Given the description of an element on the screen output the (x, y) to click on. 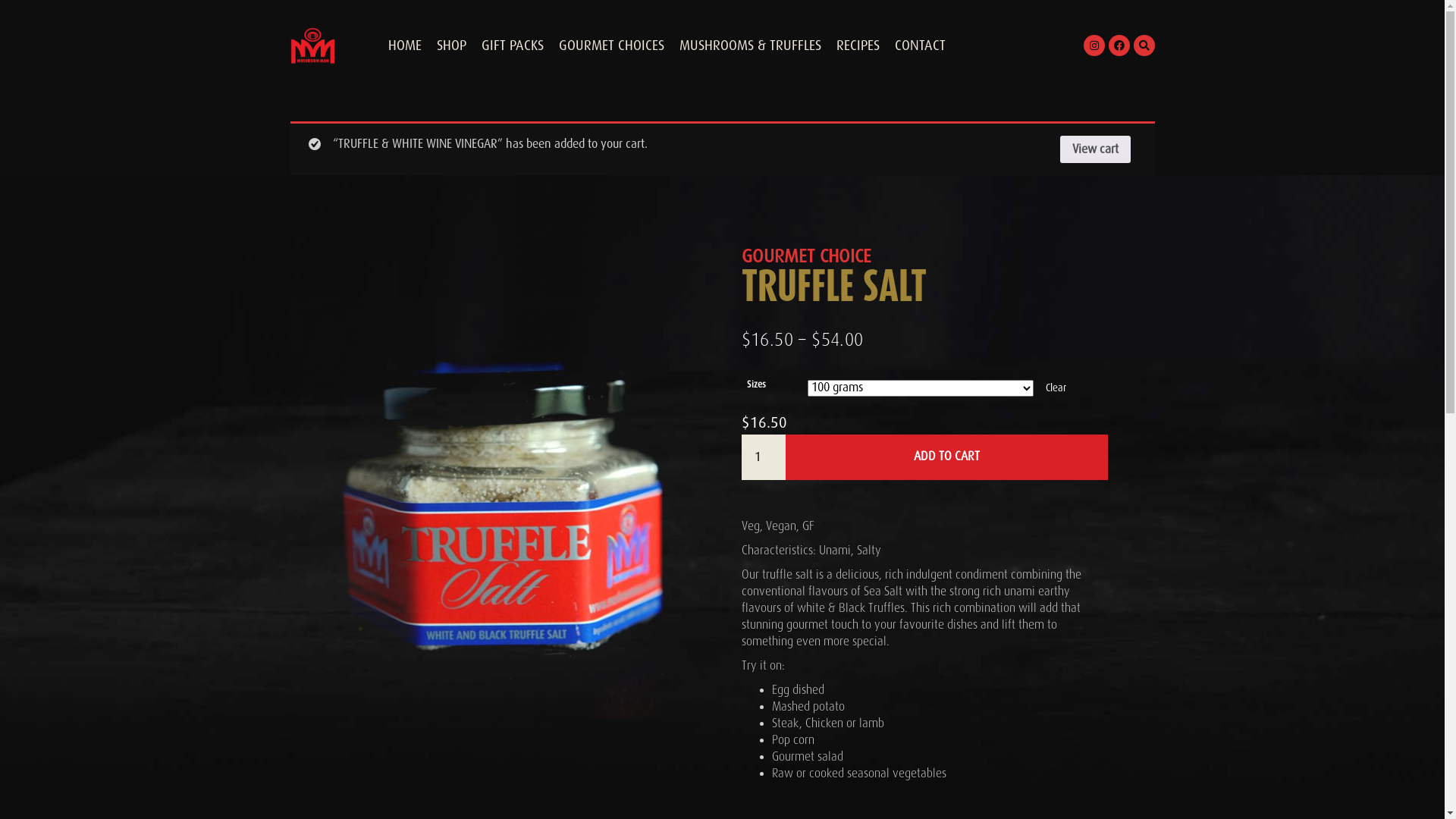
TRUFFLE-SALT Element type: hover (499, 507)
GIFT PACKS Element type: text (511, 45)
SHOP Element type: text (451, 45)
RECIPES Element type: text (857, 45)
Clear Element type: text (1055, 387)
HOME Element type: text (404, 45)
CONTACT Element type: text (920, 45)
MUSHROOMS & TRUFFLES Element type: text (749, 45)
GOURMET CHOICES Element type: text (610, 45)
ADD TO CART Element type: text (946, 457)
View cart Element type: text (1095, 149)
